Given the description of an element on the screen output the (x, y) to click on. 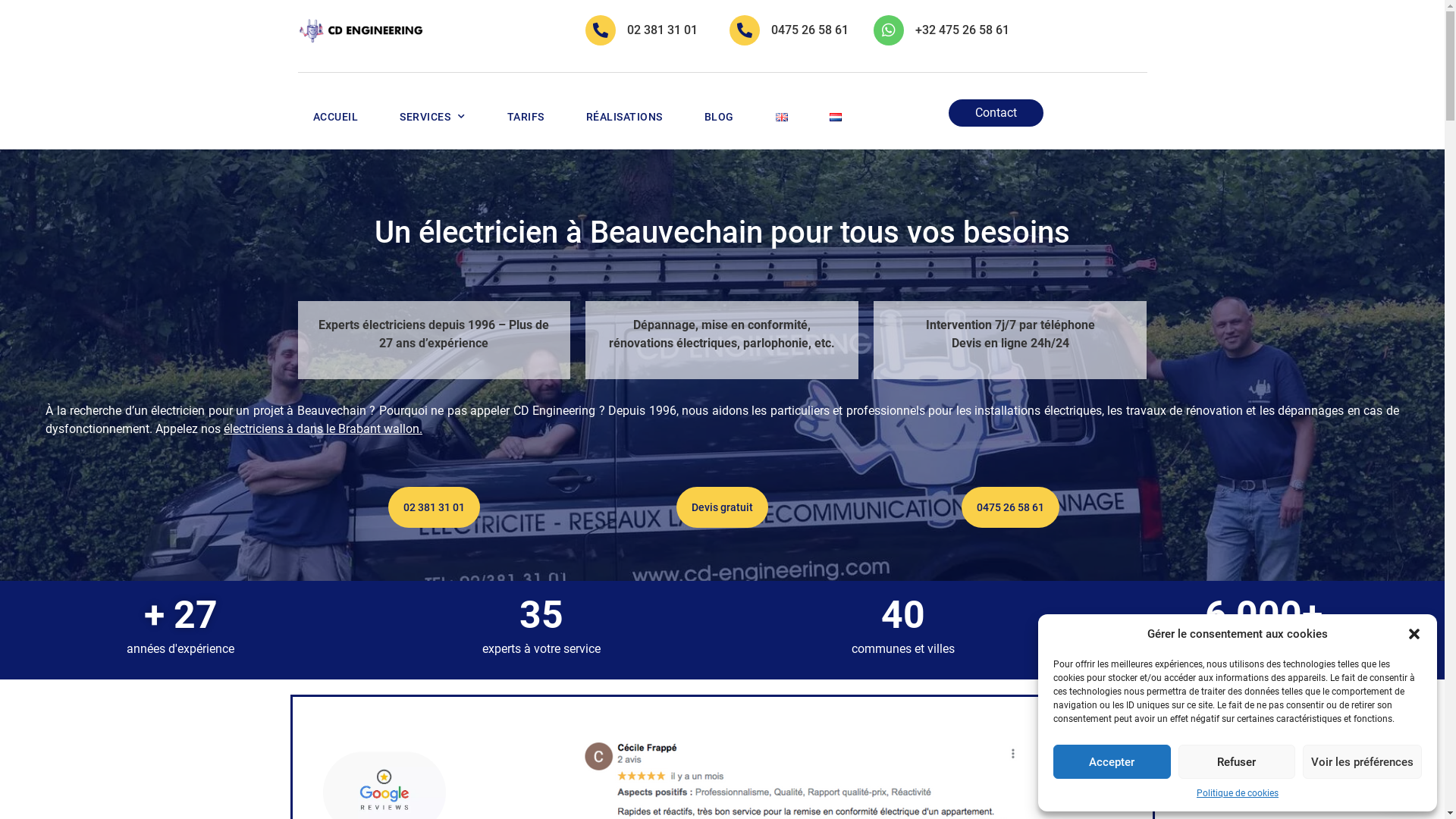
Devis gratuit Element type: text (722, 506)
TARIFS Element type: text (524, 116)
02 381 31 01 Element type: text (662, 29)
0475 26 58 61 Element type: text (1010, 506)
Refuser Element type: text (1236, 761)
Contact Element type: text (995, 112)
Accepter Element type: text (1111, 761)
02 381 31 01 Element type: text (434, 506)
Politique de cookies Element type: text (1237, 793)
+32 475 26 58 61 Element type: text (962, 29)
0475 26 58 61 Element type: text (809, 29)
ACCUEIL Element type: text (335, 116)
SERVICES Element type: text (432, 116)
BLOG Element type: text (718, 116)
